Given the description of an element on the screen output the (x, y) to click on. 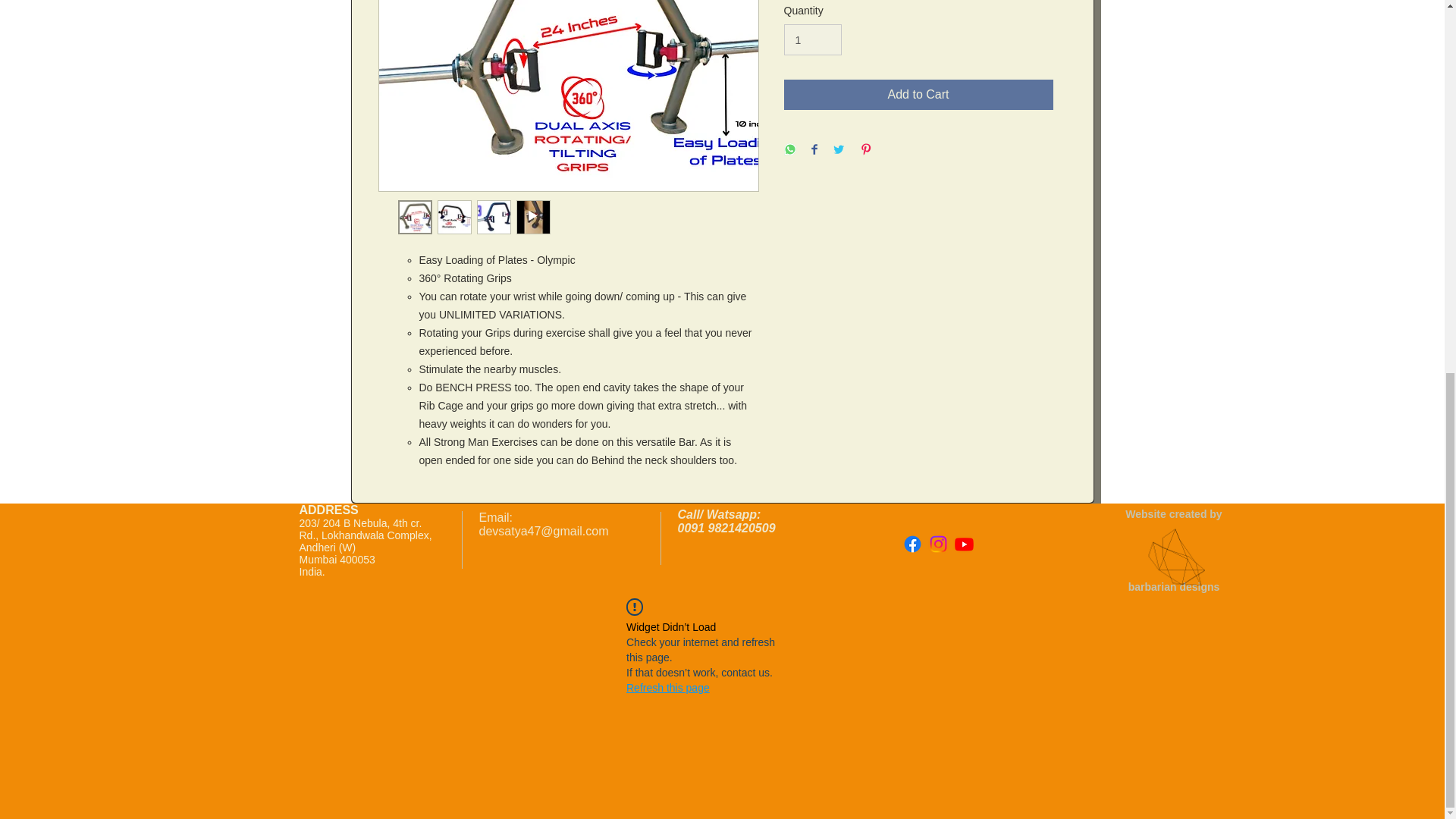
Facebook Like (995, 593)
Refresh this page (668, 687)
1 (812, 39)
Add to Cart (918, 94)
